Given the description of an element on the screen output the (x, y) to click on. 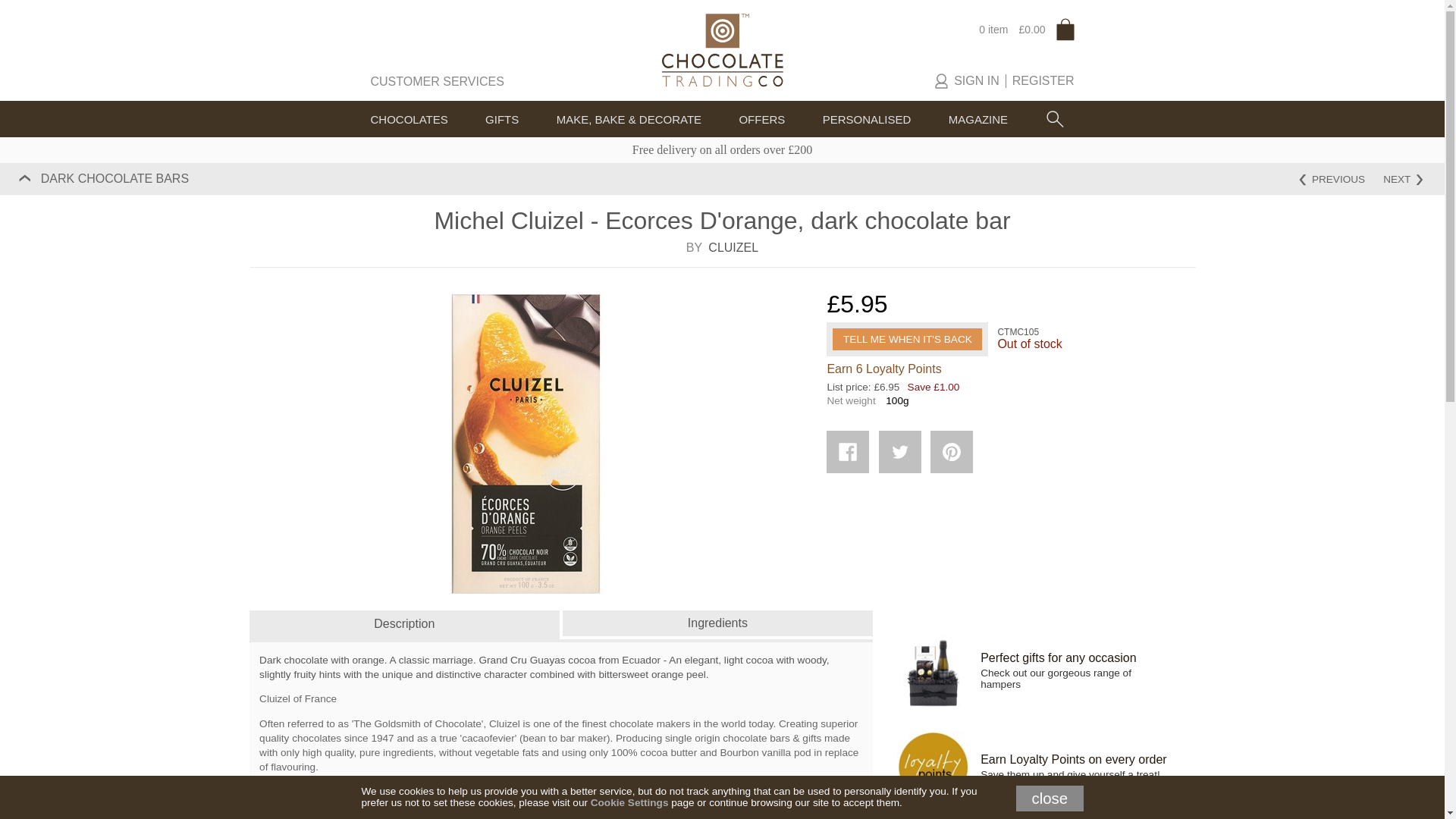
REGISTER (1040, 80)
SIGN IN (979, 80)
PERSONALISED (866, 118)
OFFERS (761, 118)
CHOCOLATES (407, 118)
CLUIZEL (731, 246)
NEXT (1403, 178)
PREVIOUS (1331, 178)
MAGAZINE (978, 118)
